Given the description of an element on the screen output the (x, y) to click on. 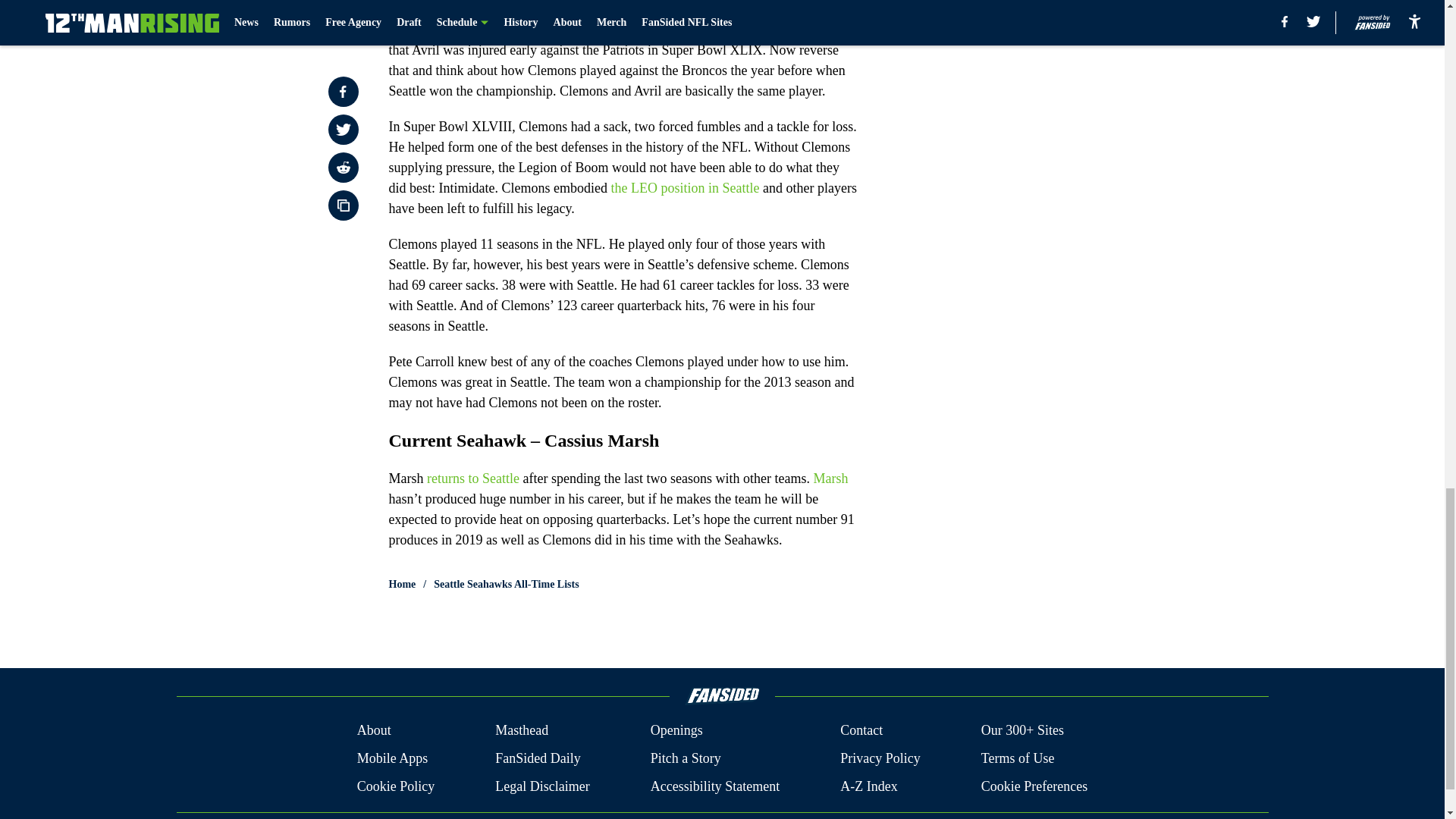
Cookie Policy (395, 786)
Cliff Avril (493, 29)
returns to Seattle (472, 478)
Marsh (829, 478)
Mobile Apps (392, 758)
Terms of Use (1017, 758)
Seattle Seahawks All-Time Lists (505, 584)
the LEO position in Seattle (684, 187)
Openings (676, 730)
Privacy Policy (880, 758)
Legal Disclaimer (542, 786)
About (373, 730)
FanSided Daily (537, 758)
Pitch a Story (685, 758)
Home (401, 584)
